Given the description of an element on the screen output the (x, y) to click on. 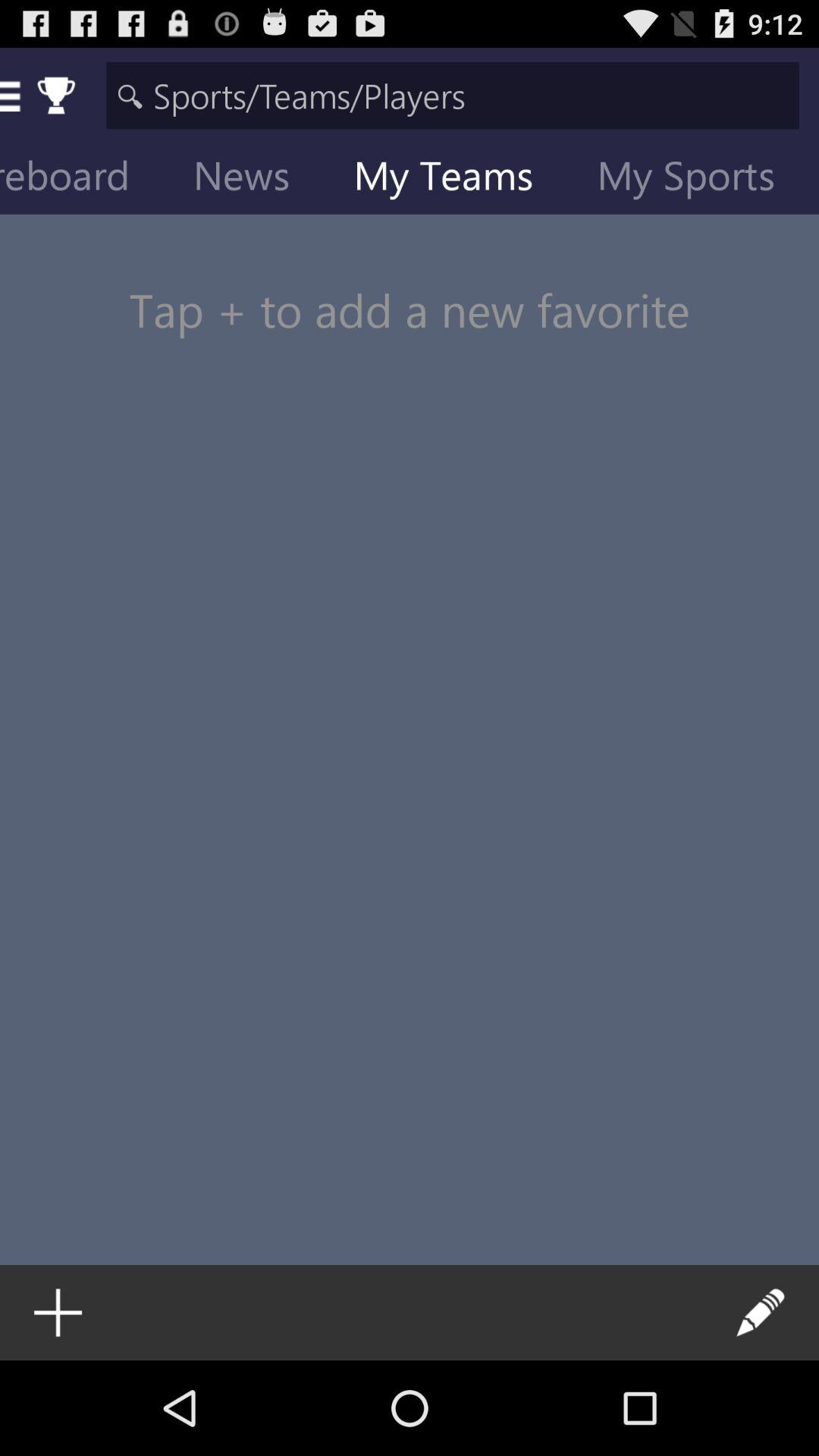
press the icon above the tap to add (253, 178)
